Given the description of an element on the screen output the (x, y) to click on. 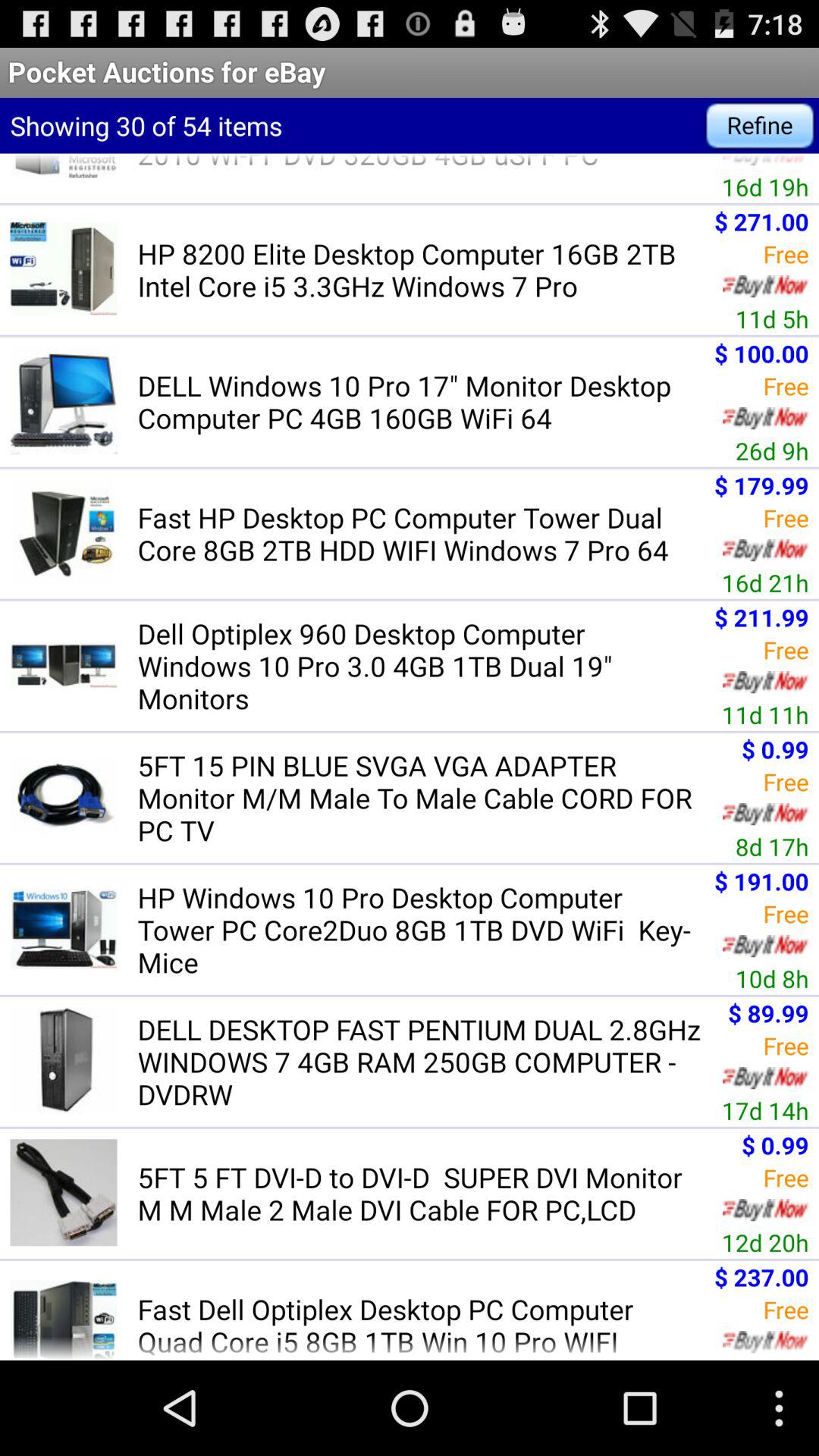
jump until 10d 8h icon (771, 978)
